Given the description of an element on the screen output the (x, y) to click on. 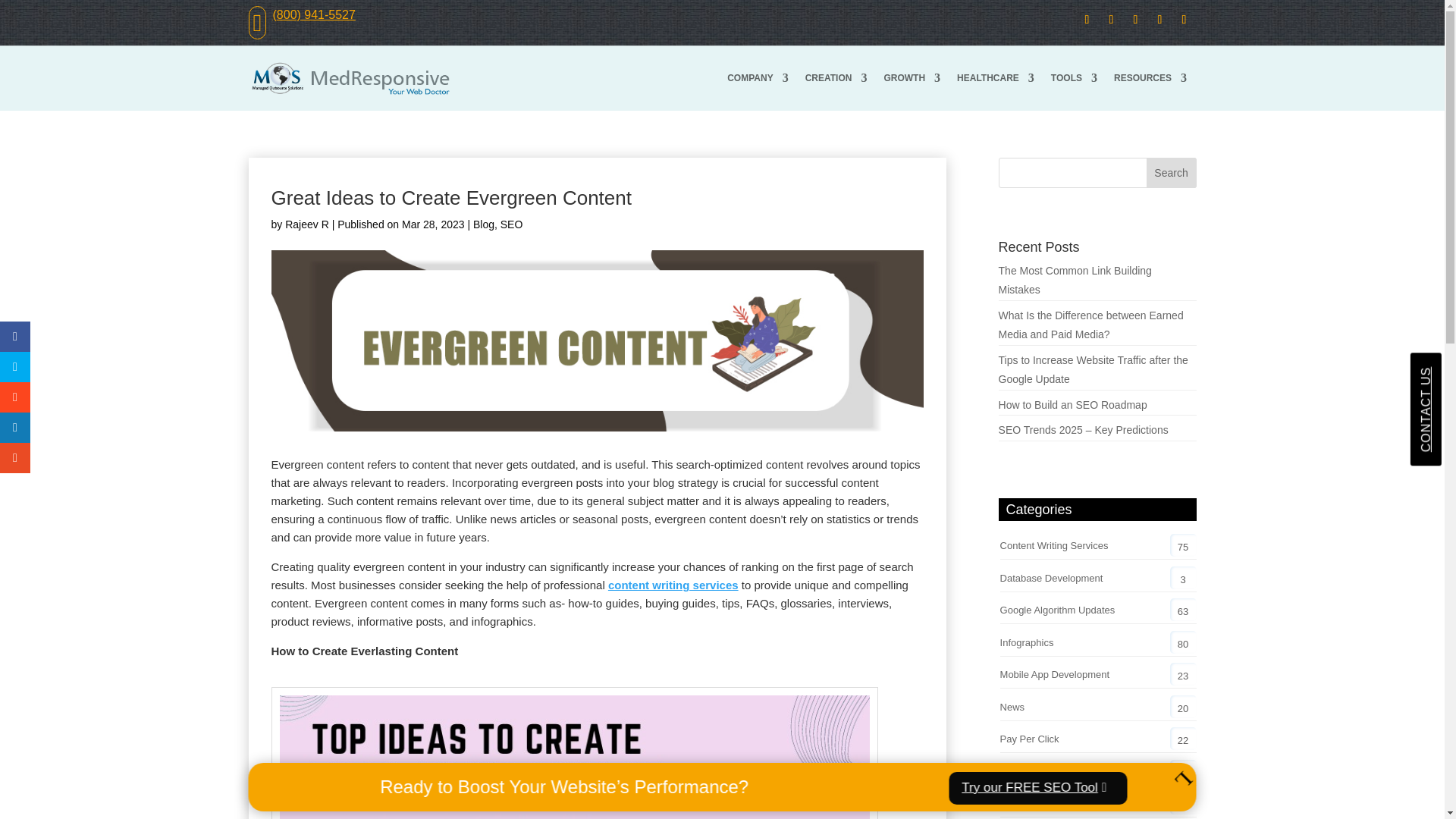
Twitter (1111, 19)
CREATION (836, 78)
Posts by Rajeev R (307, 224)
COMPANY (756, 78)
Follow on LinkedIn (1136, 19)
Instagram (1184, 19)
Follow on Facebook (1087, 19)
Search (1171, 173)
Follow on Youtube (1160, 19)
TOOLS (1074, 78)
Follow on Instagram (1184, 19)
Content Writing Services (673, 584)
Youtube (1160, 19)
Linkedin (1136, 19)
